Given the description of an element on the screen output the (x, y) to click on. 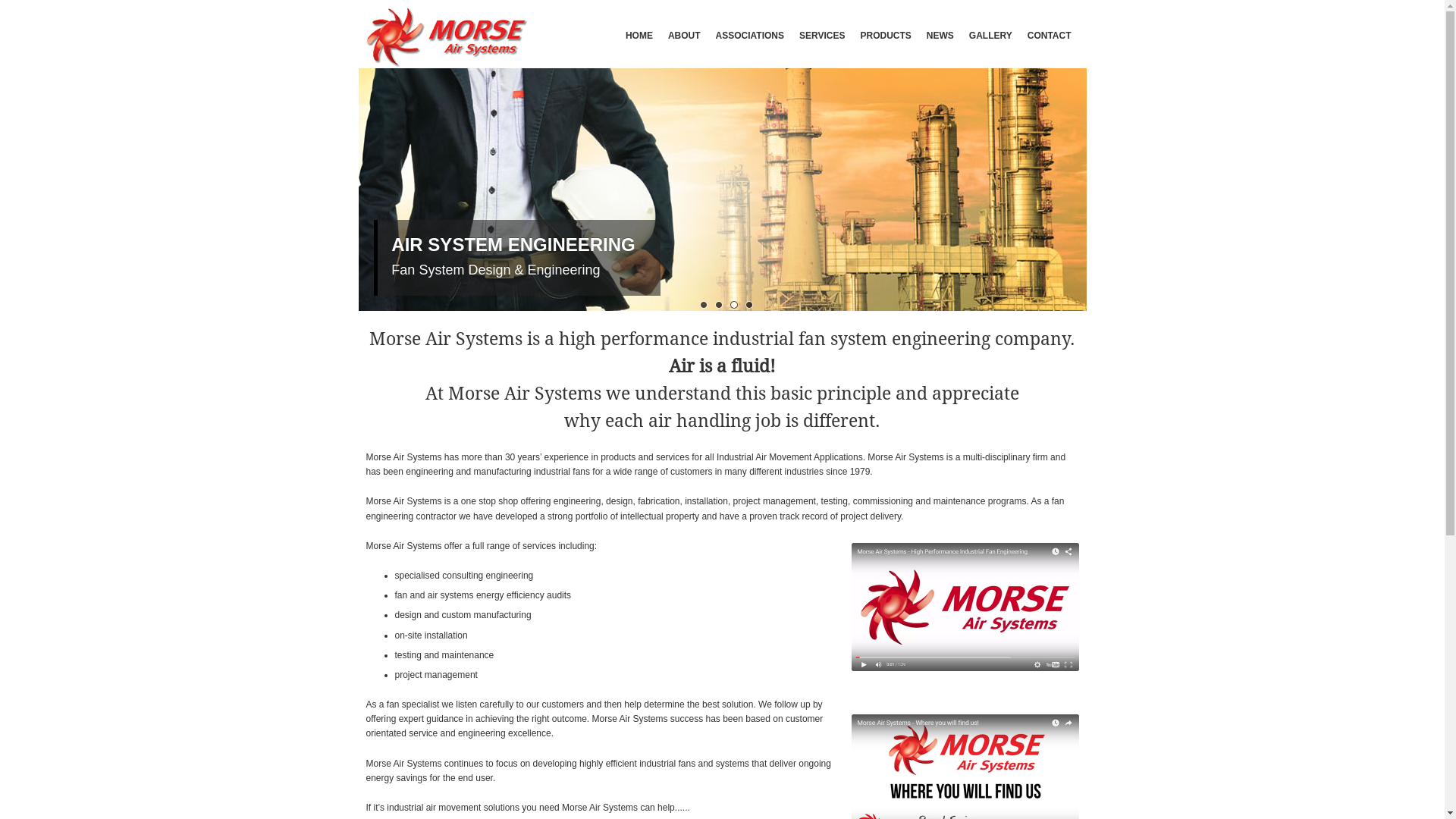
1 Element type: text (701, 303)
4 Element type: text (747, 303)
3 Element type: text (731, 303)
GALLERY Element type: text (990, 34)
ASSOCIATIONS Element type: text (749, 34)
CONTACT Element type: text (1049, 34)
HOME Element type: text (639, 34)
NEWS Element type: text (940, 34)
2 Element type: text (716, 303)
PRODUCTS Element type: text (885, 34)
SERVICES Element type: text (821, 34)
ABOUT Element type: text (684, 34)
